Given the description of an element on the screen output the (x, y) to click on. 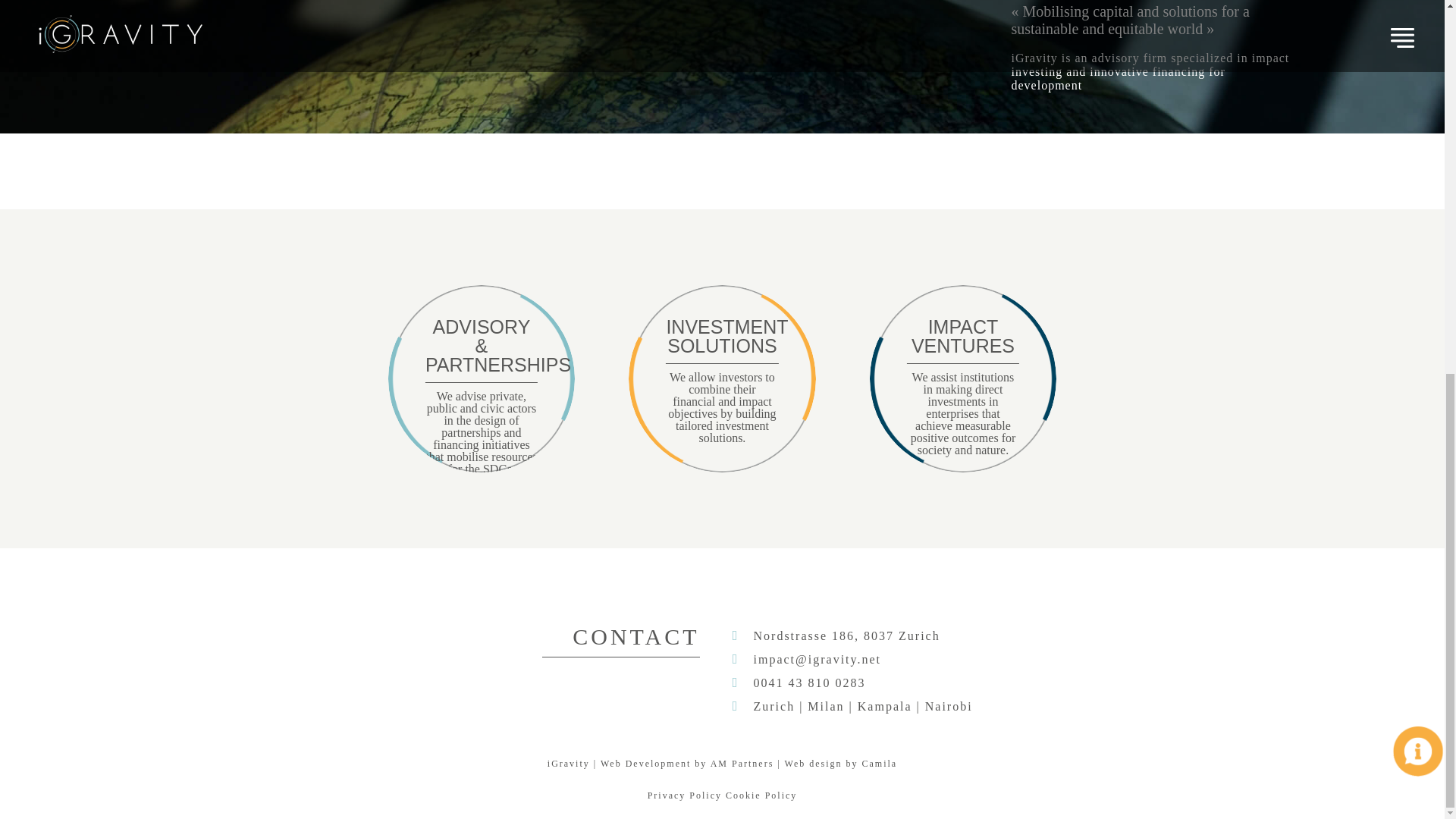
Cookie Policy (760, 795)
Cookie Policy  (760, 795)
AM Partners (742, 763)
Privacy Policy (684, 795)
Privacy Policy  (684, 795)
0041 43 810 0283 (810, 682)
